Given the description of an element on the screen output the (x, y) to click on. 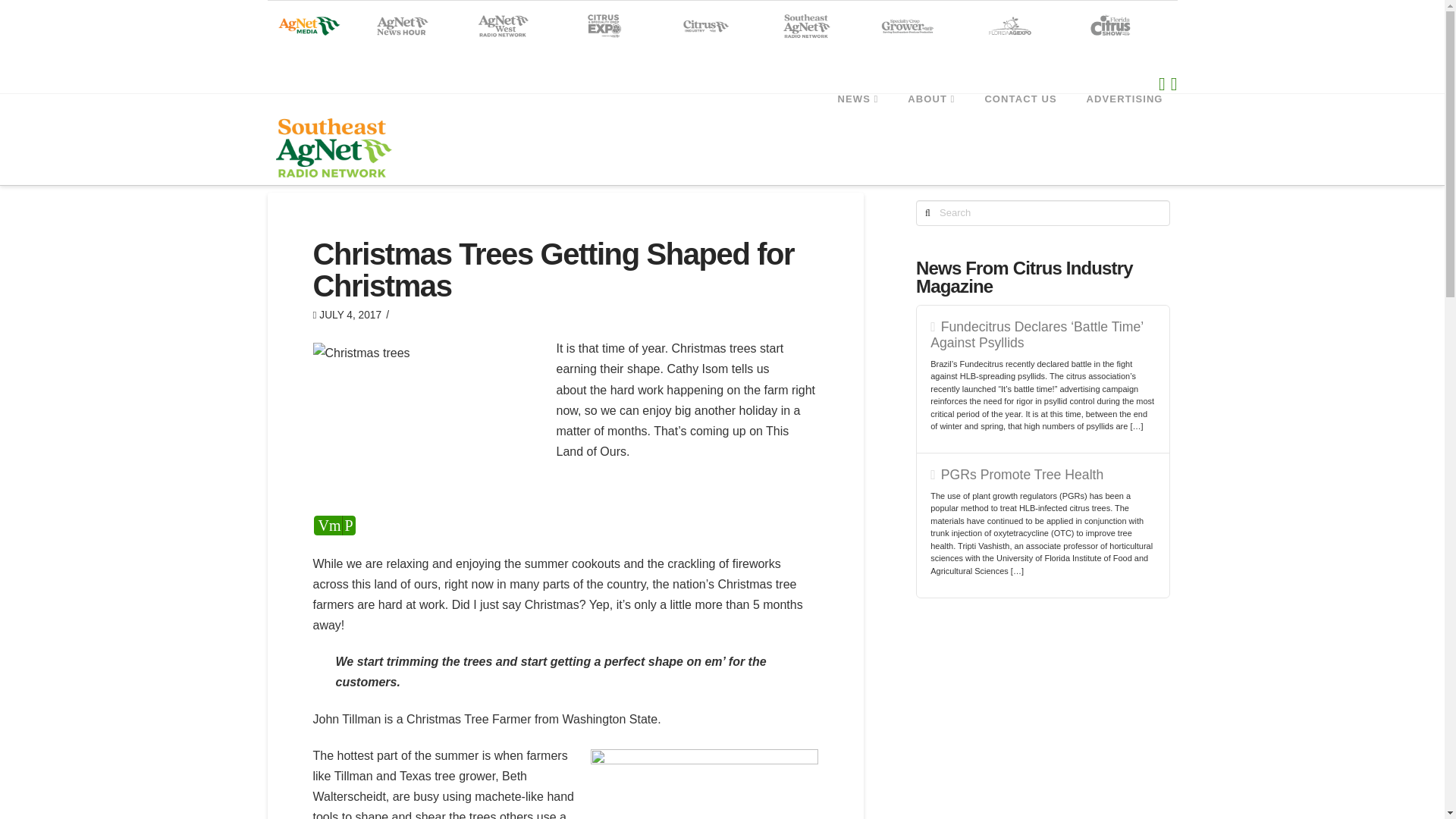
ABOUT (930, 128)
NEWS (857, 128)
ADVERTISING (1124, 128)
CONTACT US (1019, 128)
